Given the description of an element on the screen output the (x, y) to click on. 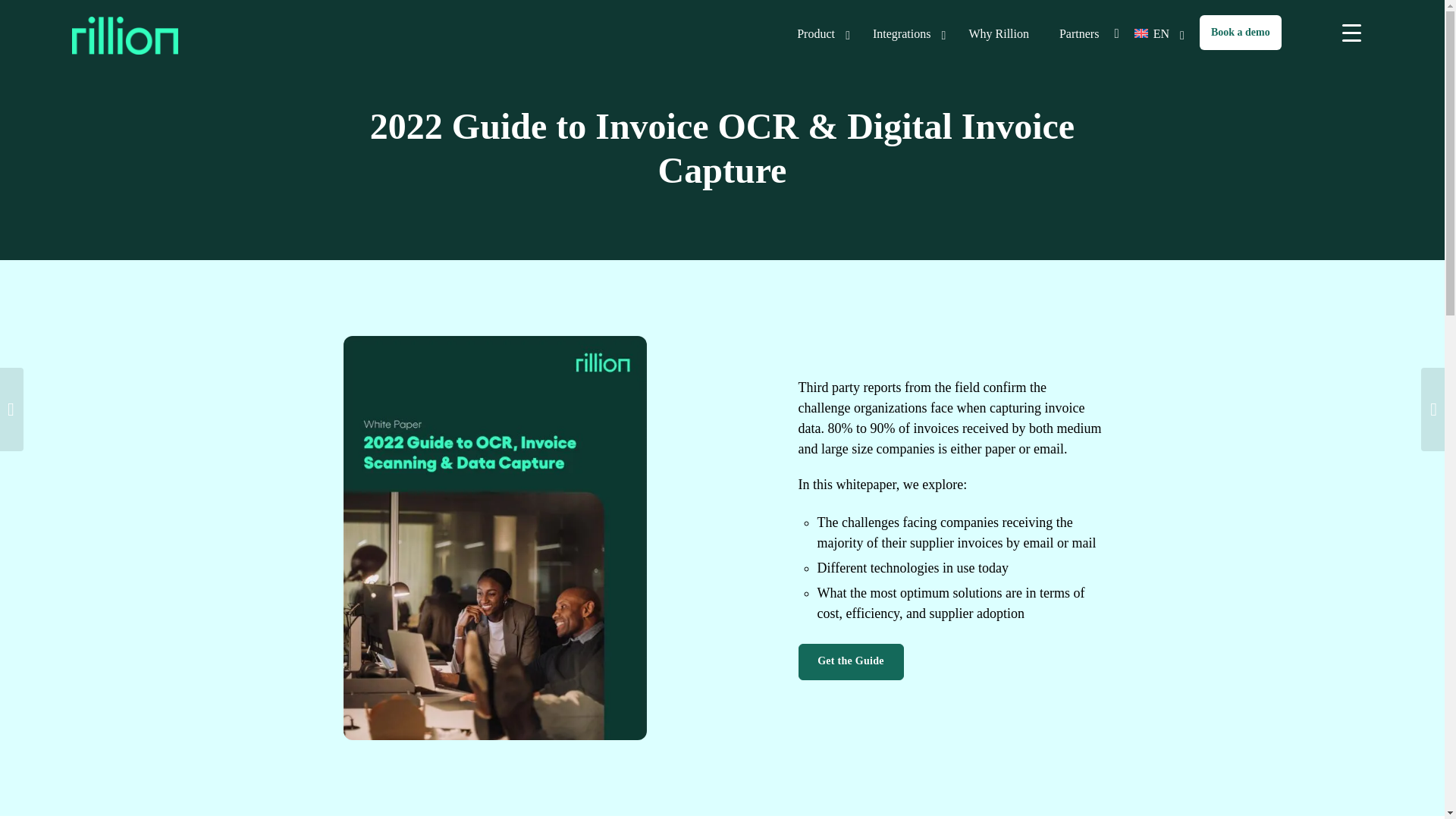
EN (1155, 34)
Product (1031, 34)
logo (819, 34)
Integrations (124, 33)
logo (905, 34)
